Given the description of an element on the screen output the (x, y) to click on. 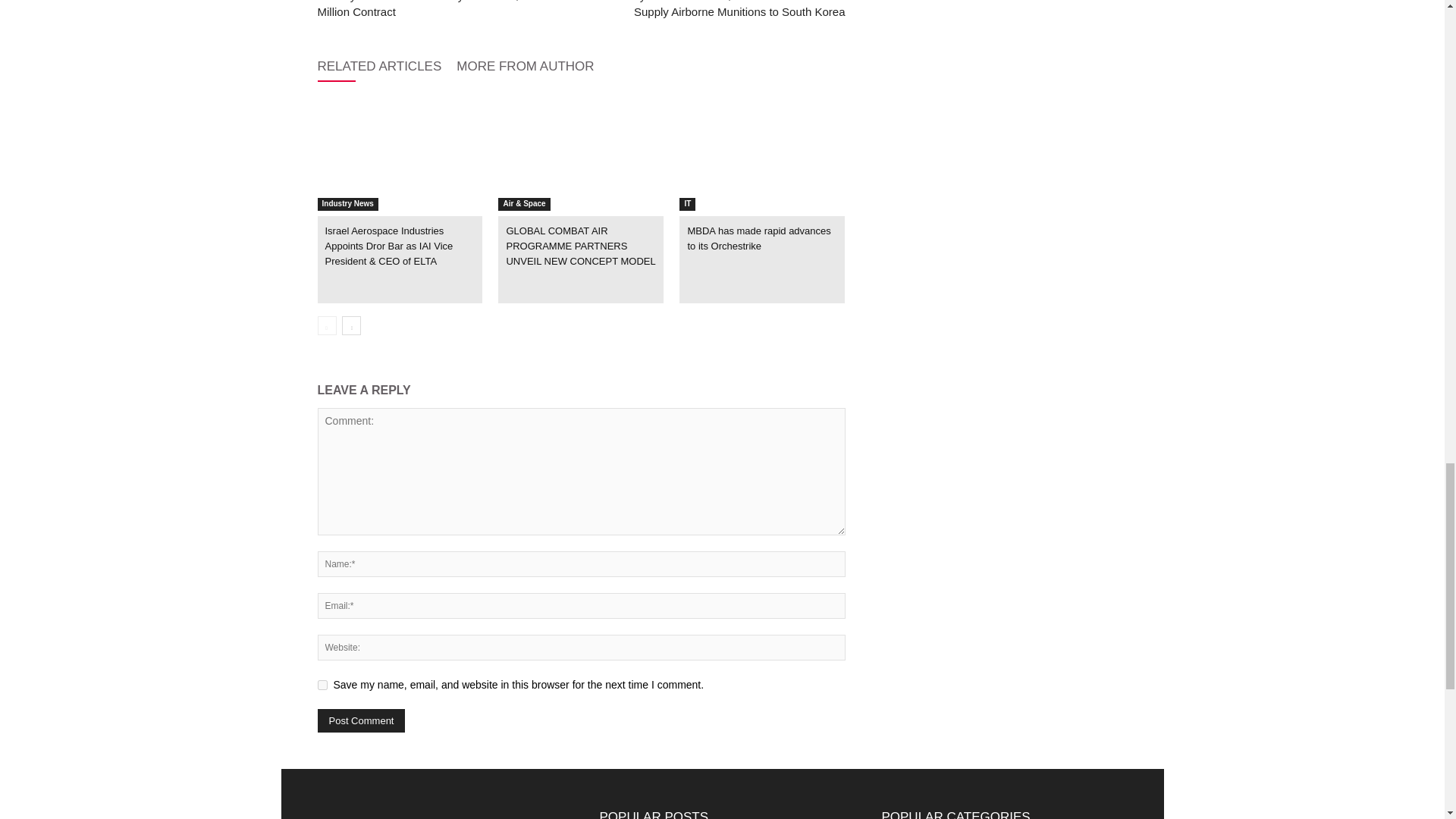
Post Comment (360, 720)
yes (321, 685)
